Given the description of an element on the screen output the (x, y) to click on. 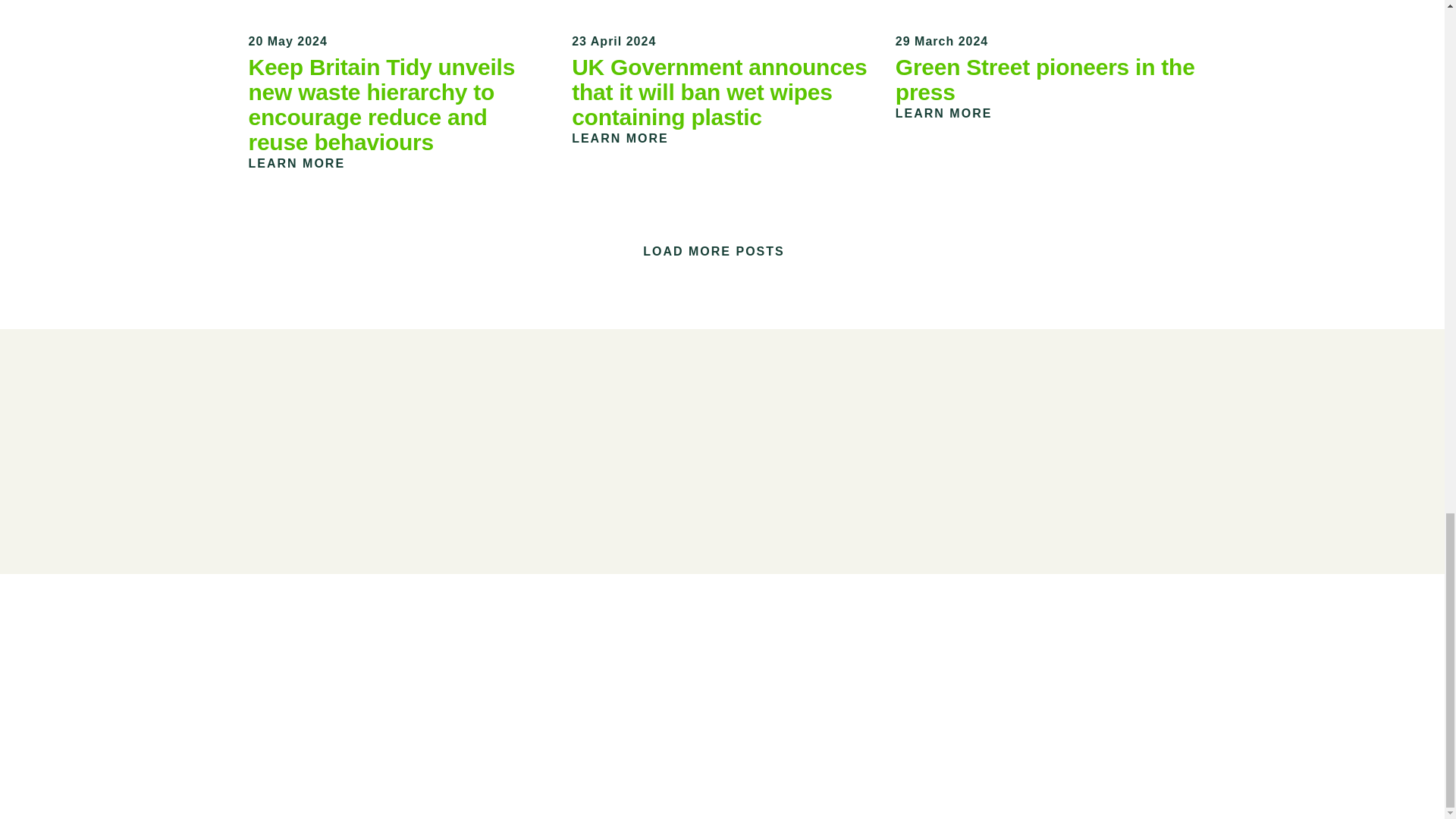
LEARN MORE (305, 163)
LOAD MORE POSTS (713, 250)
LEARN MORE (628, 137)
LEARN MORE (952, 113)
